Given the description of an element on the screen output the (x, y) to click on. 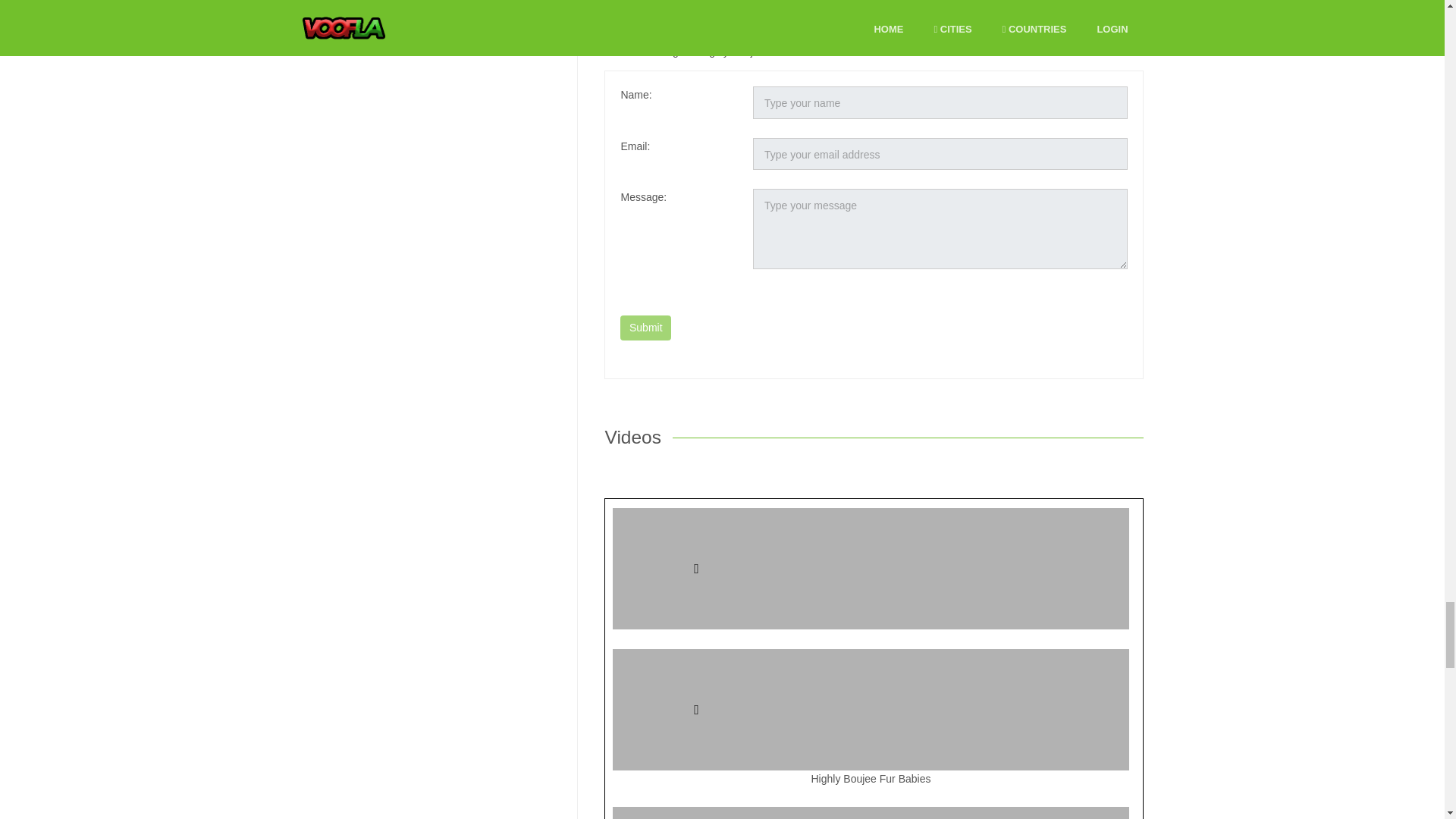
Submit (645, 328)
Submit (645, 328)
